Given the description of an element on the screen output the (x, y) to click on. 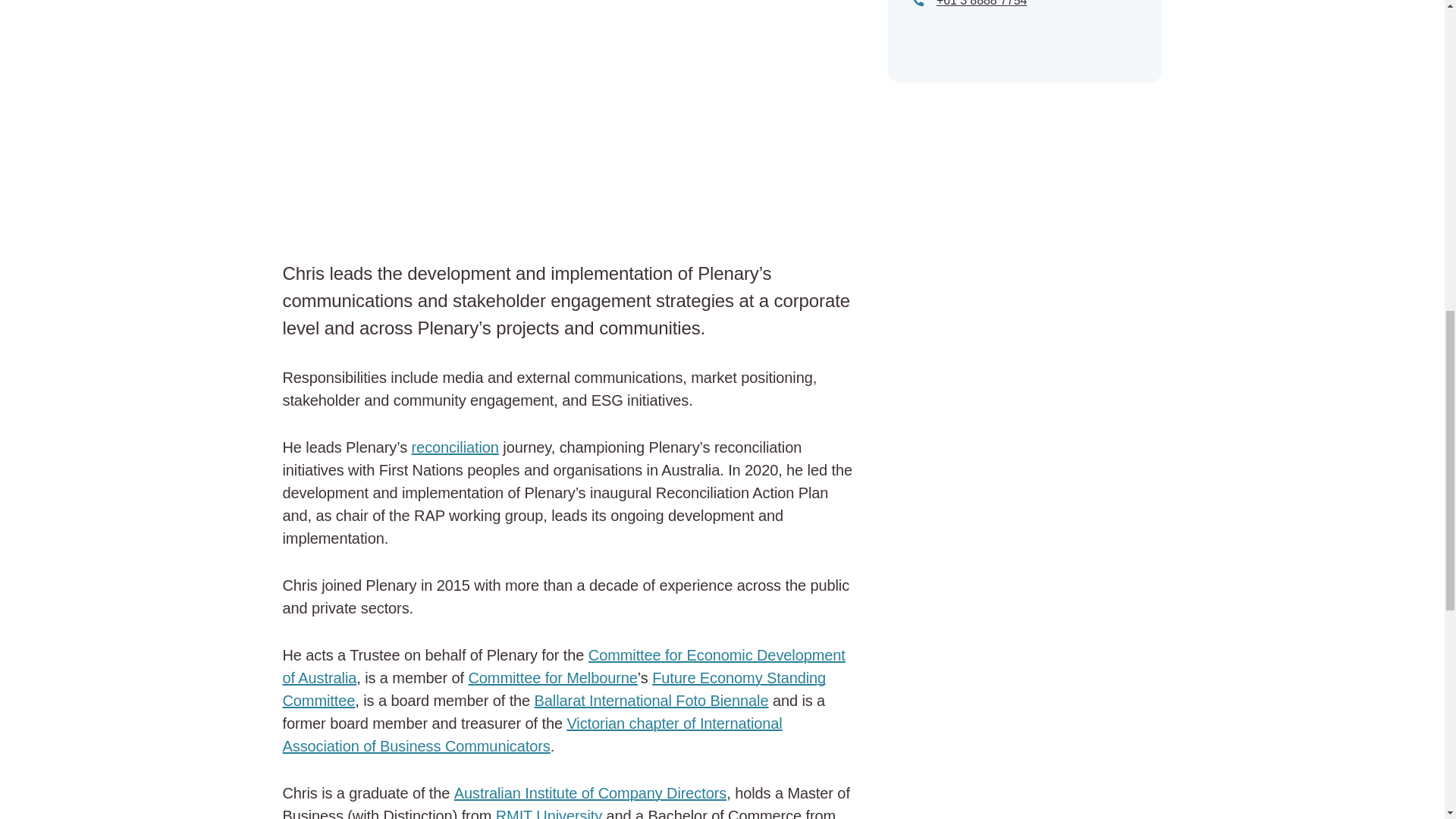
Ballarat International Foto Biennale (651, 700)
Committee for Economic Development of Australia (563, 666)
RMIT University (549, 813)
Australian Institute of Company Directors (590, 792)
reconciliation (455, 446)
Committee for Melbourne (552, 677)
Future Economy Standing Committee (553, 689)
